Given the description of an element on the screen output the (x, y) to click on. 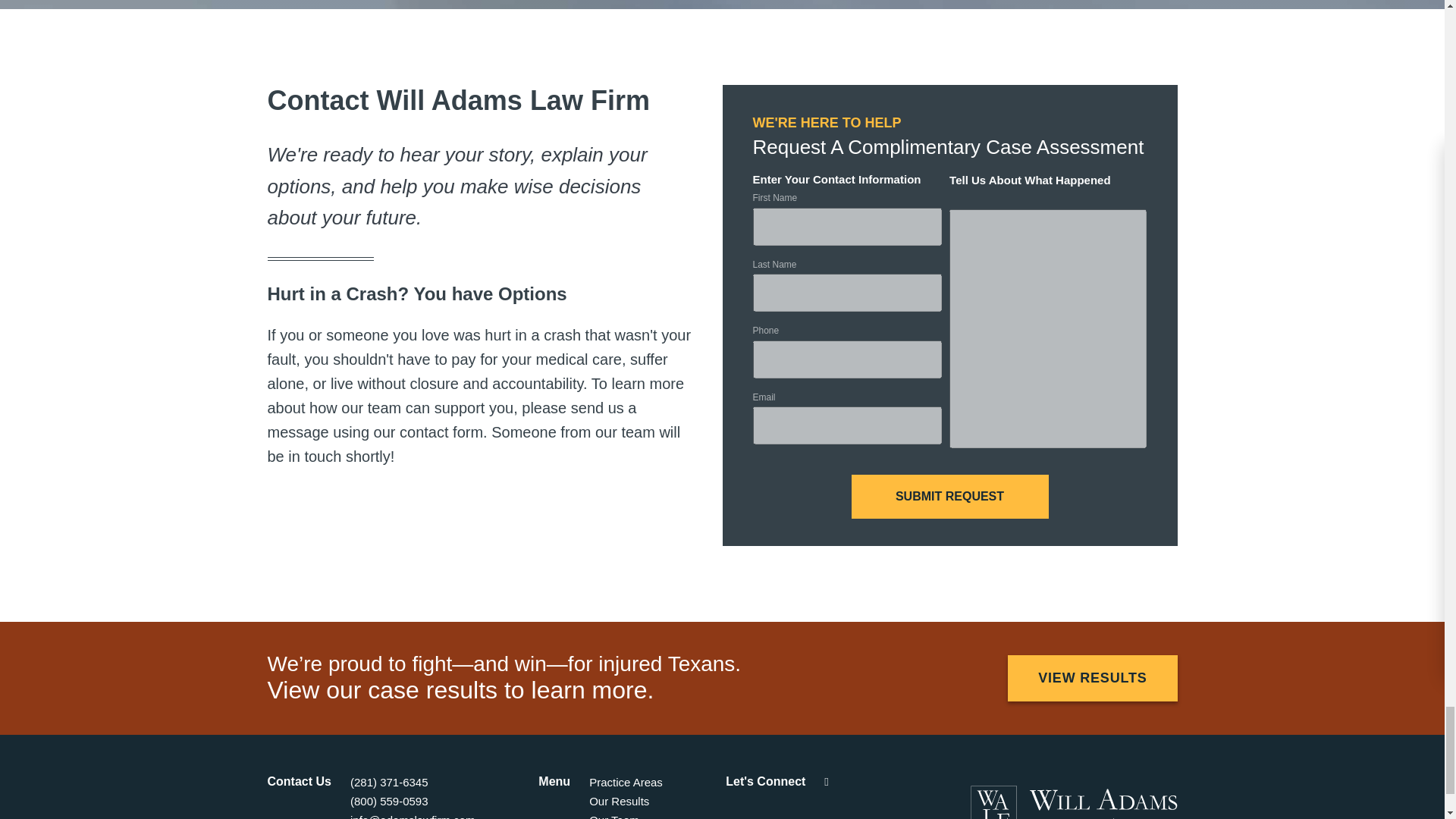
Submit Request (949, 496)
